Given the description of an element on the screen output the (x, y) to click on. 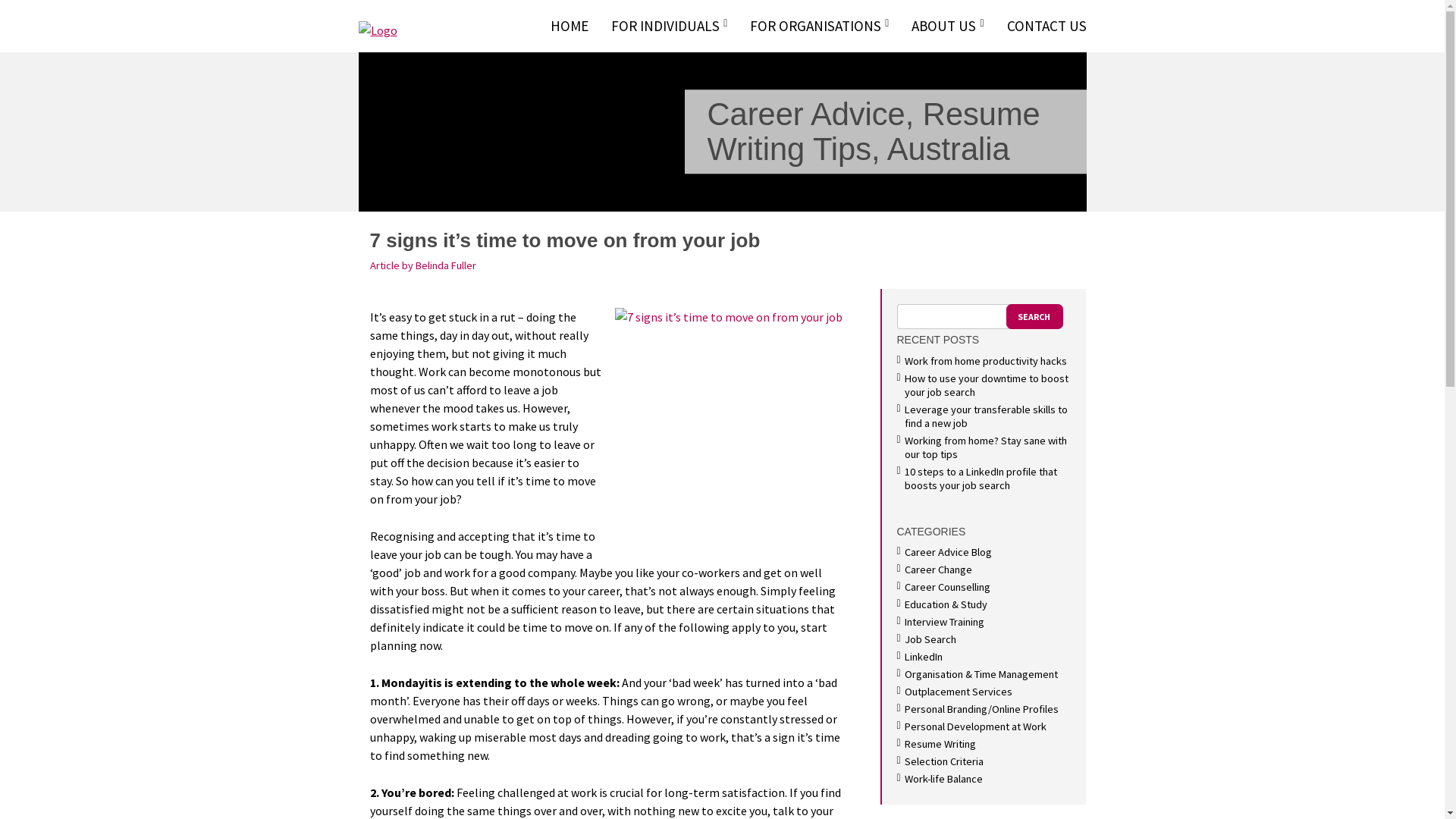
HOME Element type: text (569, 26)
Organisation & Time Management Element type: text (980, 673)
Career Change Element type: text (937, 569)
Personal Branding/Online Profiles Element type: text (980, 708)
How to use your downtime to boost your job search Element type: text (985, 384)
SEARCH Element type: text (1033, 316)
Outplacement Services Element type: text (957, 691)
Work-life Balance Element type: text (942, 778)
Education & Study Element type: text (944, 604)
Career Counselling Element type: text (946, 586)
Selection Criteria Element type: text (942, 761)
Personal Development at Work Element type: text (974, 726)
Career Advice Blog Element type: text (947, 551)
10 steps to a LinkedIn profile that boosts your job search Element type: text (979, 478)
Job Search Element type: text (929, 639)
Work from home productivity hacks Element type: text (984, 360)
Resume Writing Element type: text (939, 743)
LinkedIn Element type: text (922, 656)
CONTACT US Element type: text (1039, 26)
FOR ORGANISATIONS Element type: text (819, 26)
ABOUT US Element type: text (947, 26)
FOR INDIVIDUALS Element type: text (668, 26)
Leverage your transferable skills to find a new job Element type: text (984, 415)
Interview Training Element type: text (943, 621)
Working from home? Stay sane with our top tips Element type: text (984, 447)
